Given the description of an element on the screen output the (x, y) to click on. 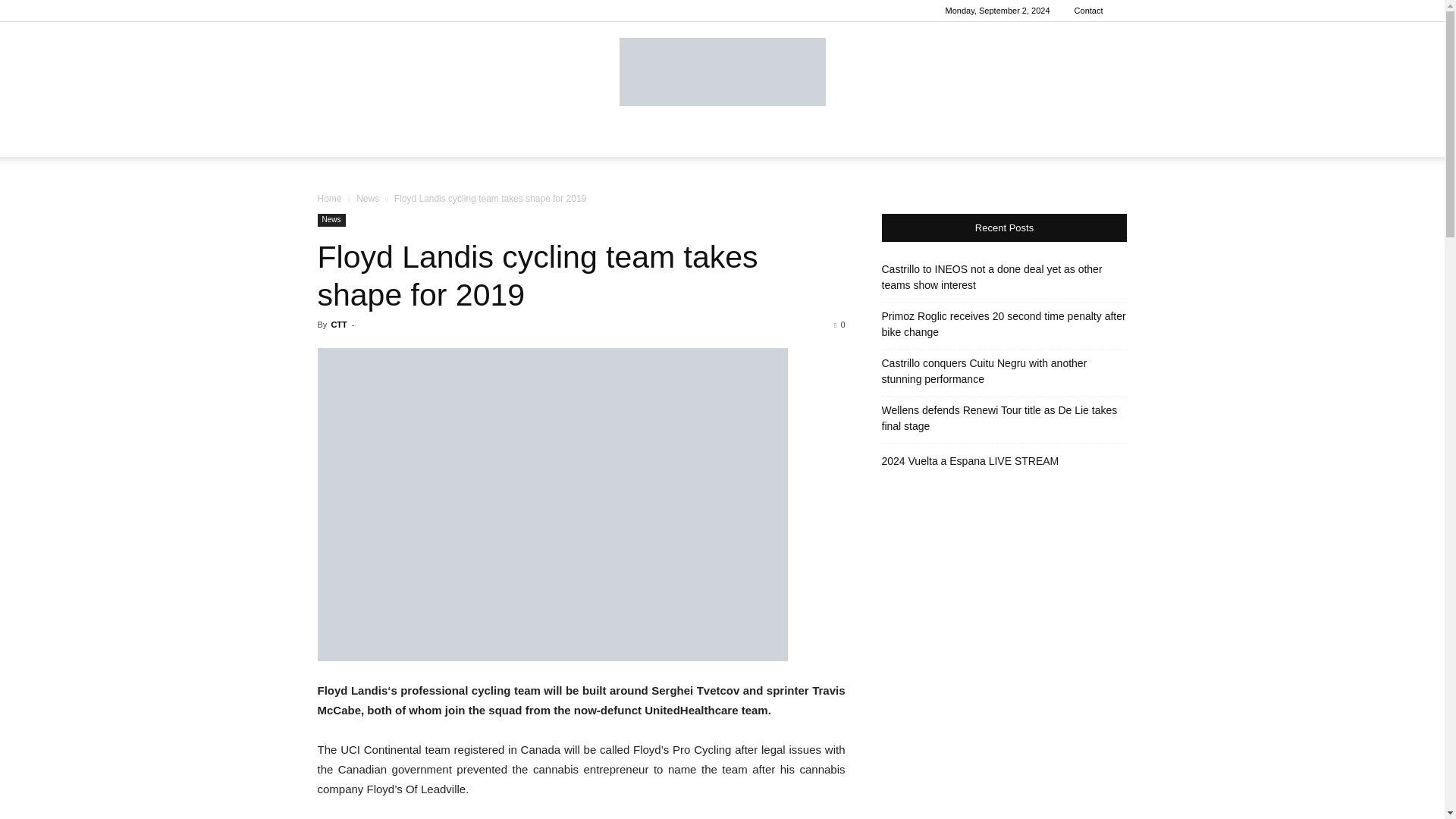
Contact (1088, 10)
Home (328, 198)
TECH (580, 138)
TRAINING AND HEALTH (677, 138)
HISTORY (919, 138)
LIVE STREAMING (1009, 138)
VIDEOS (854, 138)
0 (839, 324)
RESULTS (519, 138)
News (367, 198)
